Given the description of an element on the screen output the (x, y) to click on. 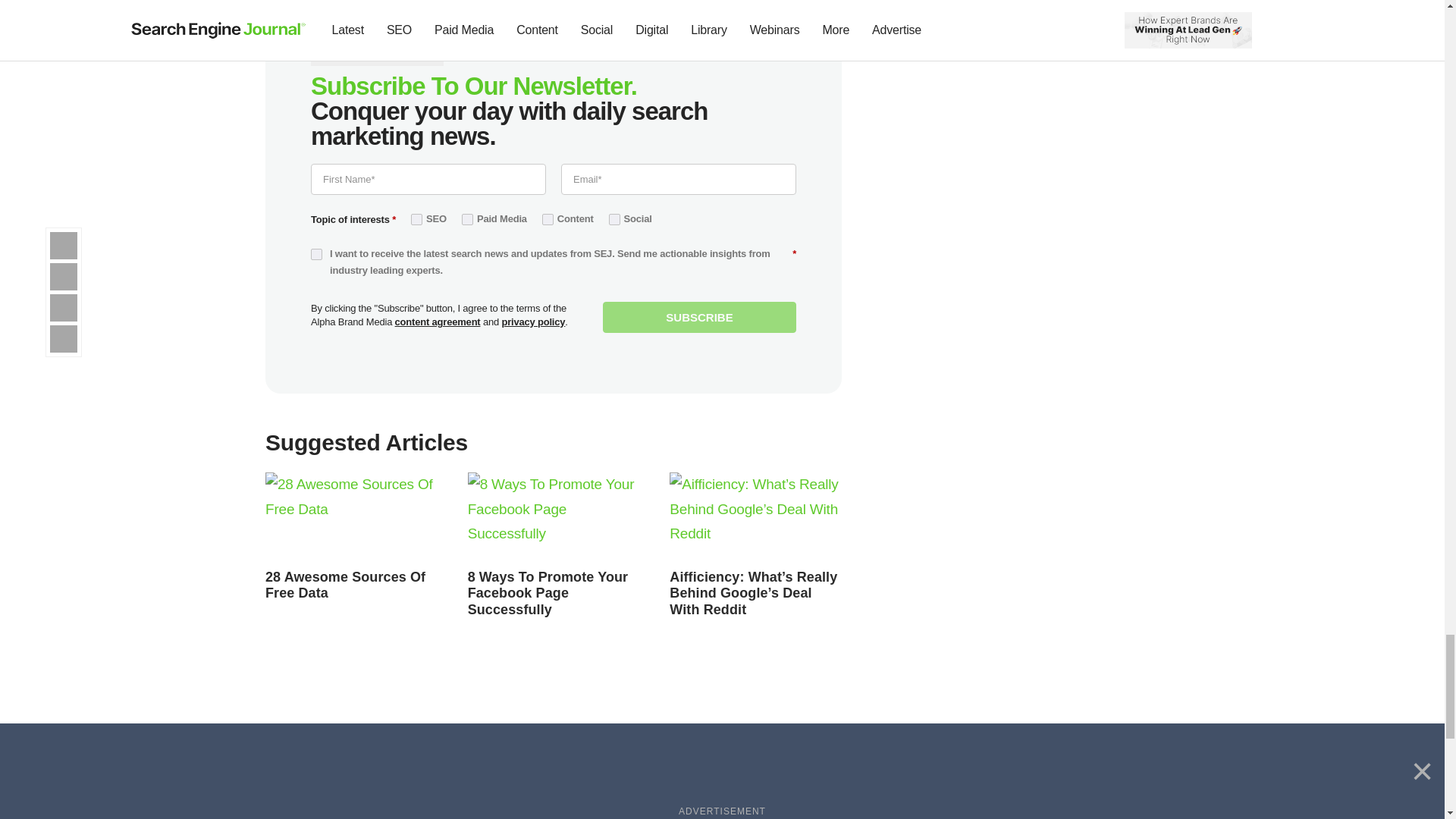
Read the Article (553, 516)
Read the Article (753, 593)
Read the Article (344, 585)
Read the Article (755, 516)
Read the Article (351, 516)
Read the Article (547, 593)
